Given the description of an element on the screen output the (x, y) to click on. 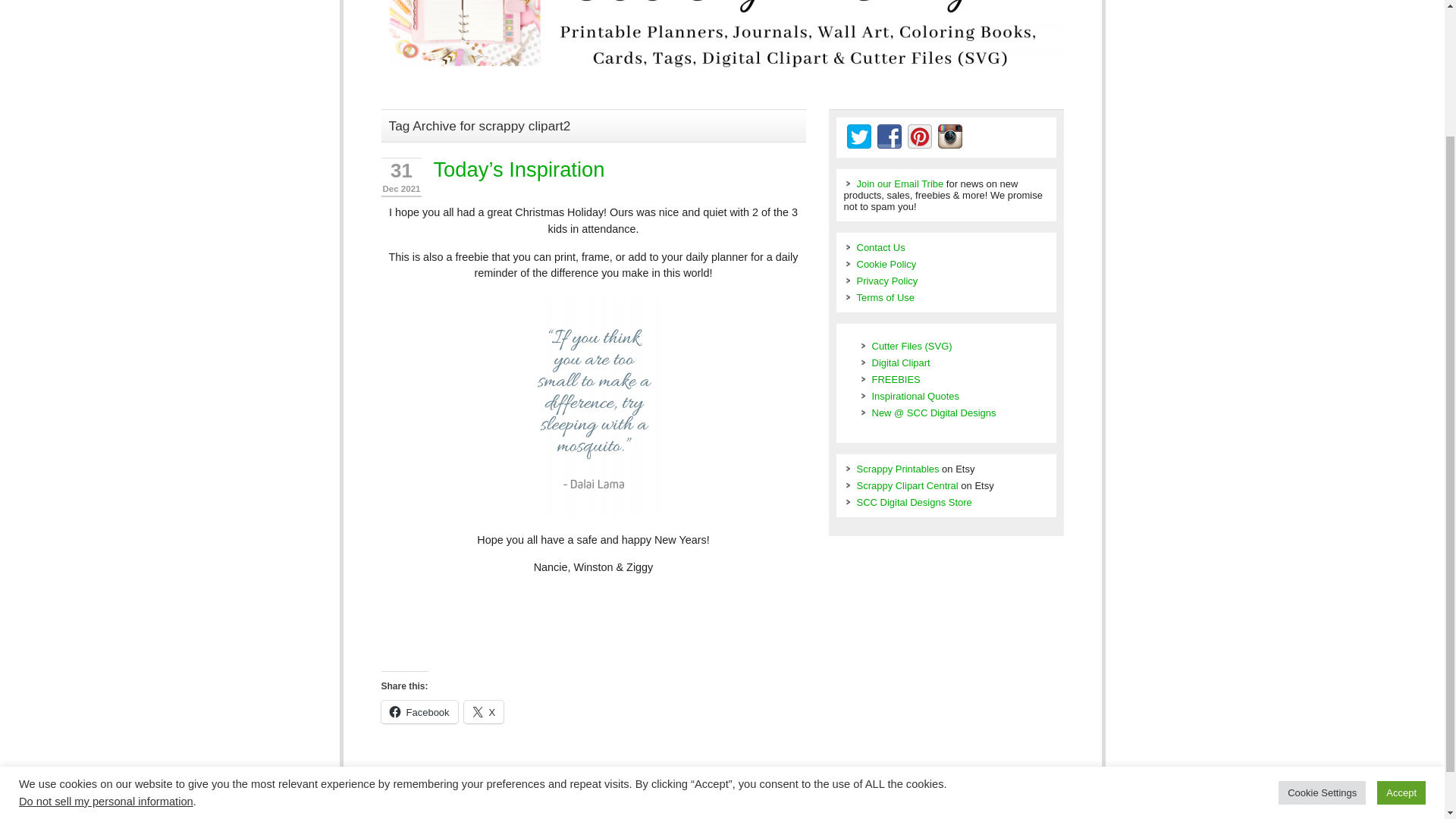
31 (401, 169)
Digital Clipart (901, 362)
Privacy Policy (887, 280)
Facebook (418, 712)
Cookie Policy (887, 264)
Join our Email Tribe (900, 183)
Cookie Settings (1321, 630)
Scrappy Clipart Central (907, 485)
Do not sell my personal information (105, 639)
Terms of Use (885, 297)
X (483, 712)
FREEBIES (896, 378)
Scrappy Printables (898, 469)
Contact Us (881, 247)
Inspirational Quotes (915, 396)
